Given the description of an element on the screen output the (x, y) to click on. 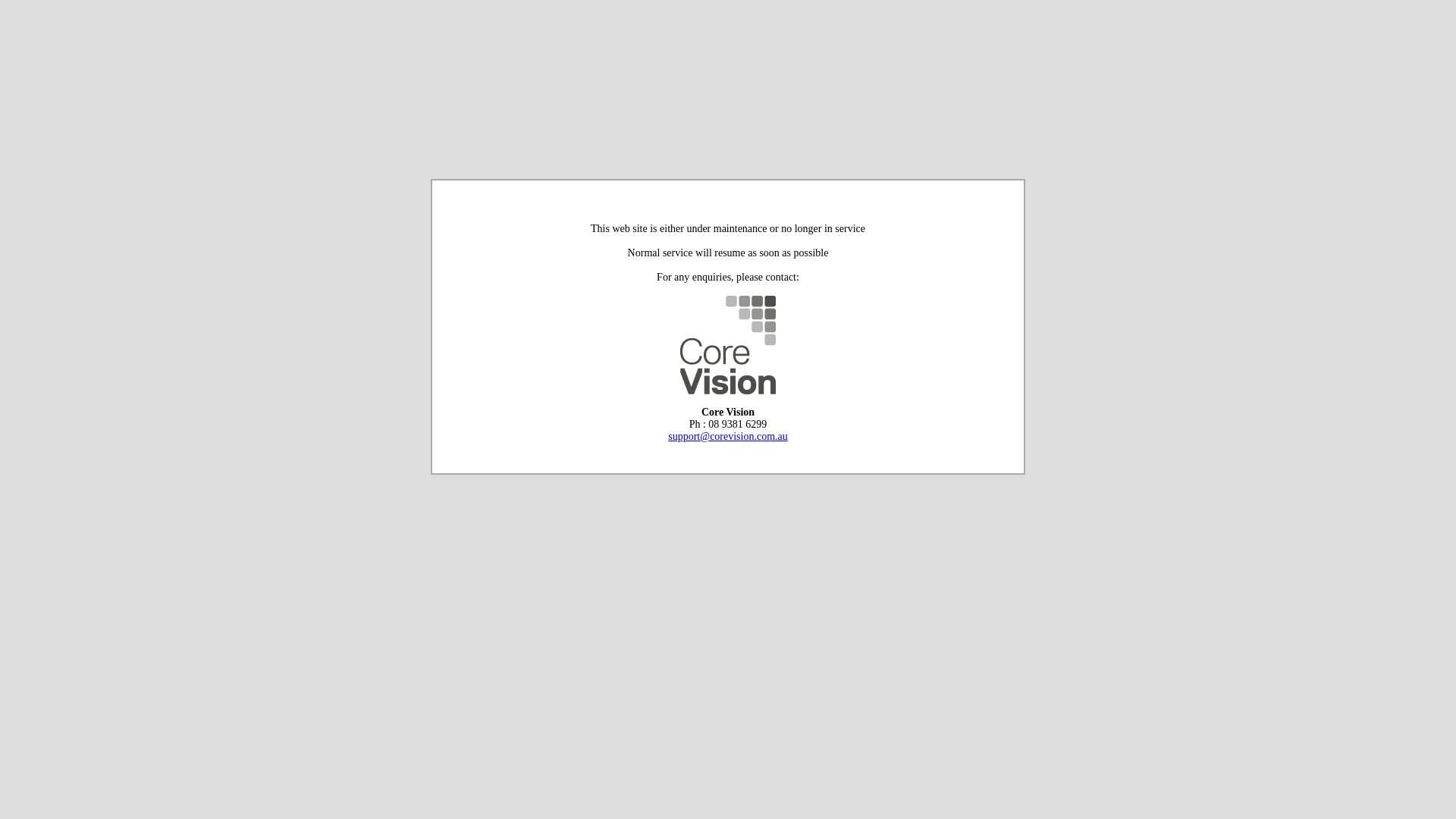
support@corevision.com.au Element type: text (727, 436)
